Given the description of an element on the screen output the (x, y) to click on. 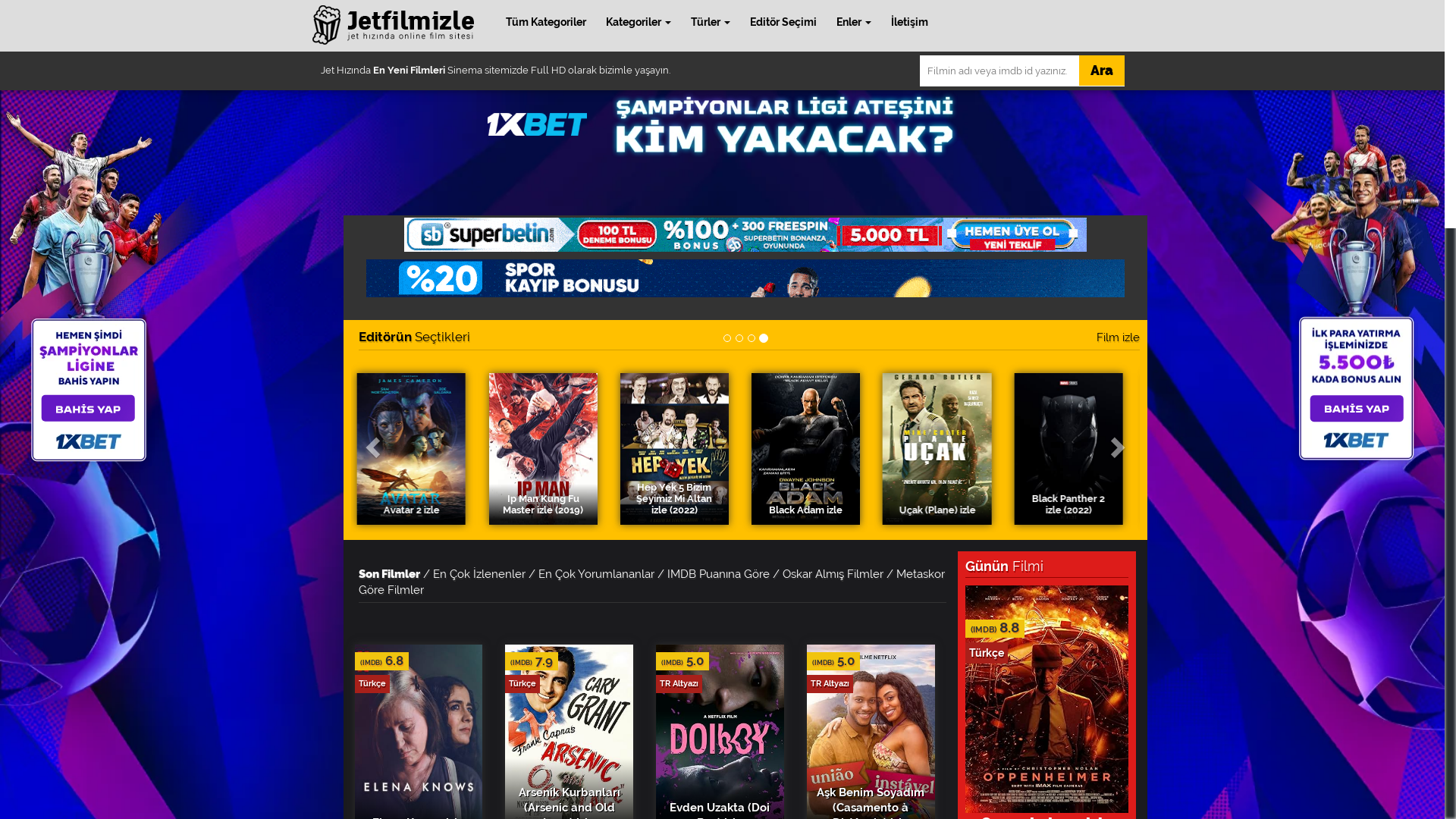
Avatar 2 izle Element type: hover (1073, 447)
Ant-Man and the Wasp Quantumania izle (2023) Element type: hover (942, 448)
Ant-Man and the Wasp Quantumania izle (2023) Element type: hover (942, 447)
49 izle Element type: hover (416, 448)
Sevmedim Deme izle Element type: hover (810, 448)
Avatar 2 izle Element type: hover (1073, 448)
Kutsal Damacana 4 izle Element type: hover (547, 447)
Geri Element type: text (369, 443)
Sevmedim Deme izle Element type: hover (810, 447)
Ana Sayfa Element type: text (393, 25)
Ara Element type: text (1100, 70)
Oppenheimer izle Element type: hover (1045, 698)
Oppenheimer izle Element type: hover (1045, 698)
Kategoriler Element type: text (638, 21)
Kutsal Damacana 4 izle Element type: hover (547, 448)
49 izle Element type: hover (416, 447)
Enler Element type: text (853, 21)
